Given the description of an element on the screen output the (x, y) to click on. 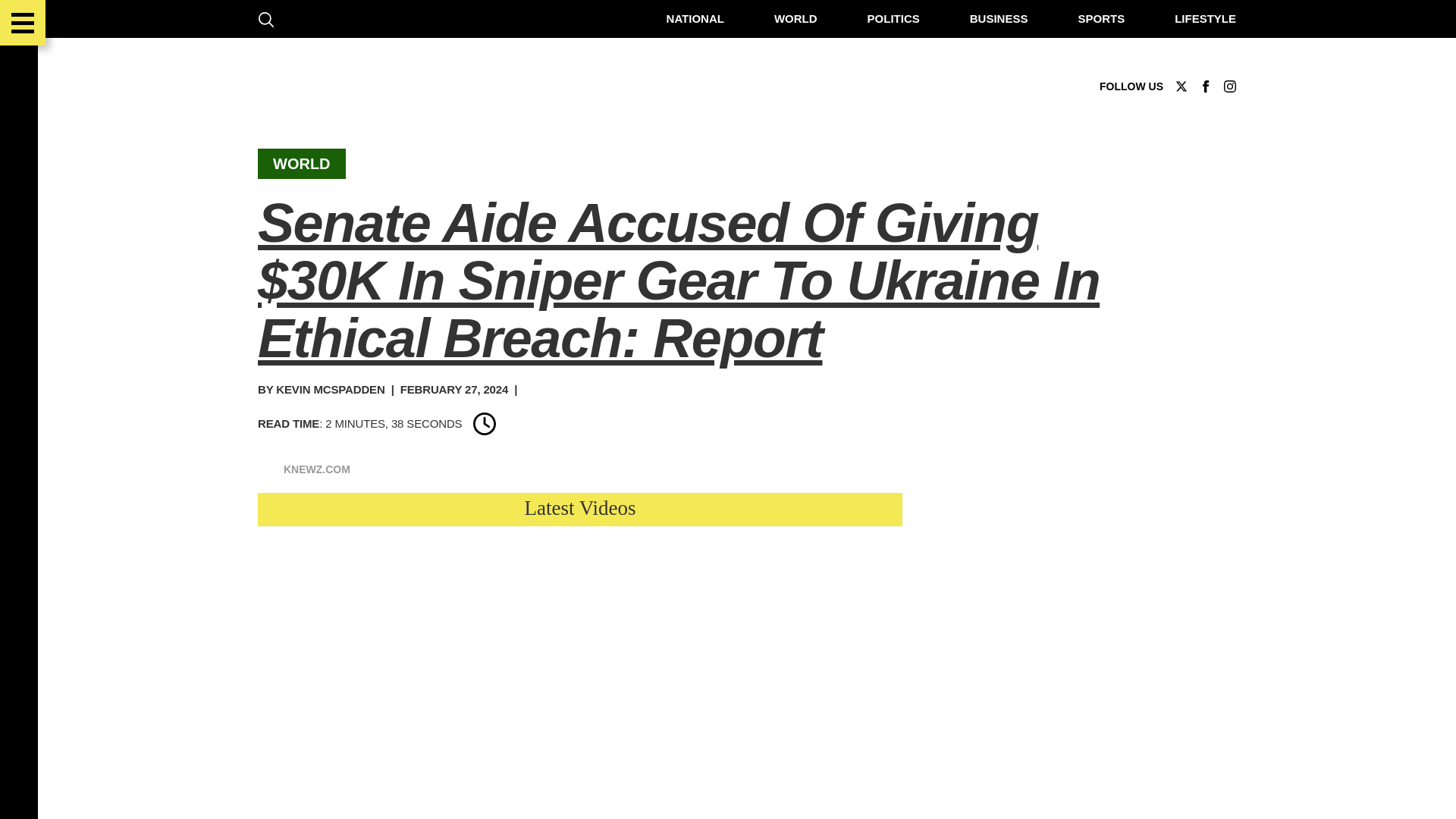
LIFESTYLE (1199, 18)
SPORTS (1095, 18)
Ukraine (356, 580)
BUSINESS (992, 18)
KEVIN MCSPADDEN (324, 389)
FEBRUARY 27, 2024 (448, 389)
WORLD (789, 18)
United States (373, 559)
WORLD (295, 163)
